Given the description of an element on the screen output the (x, y) to click on. 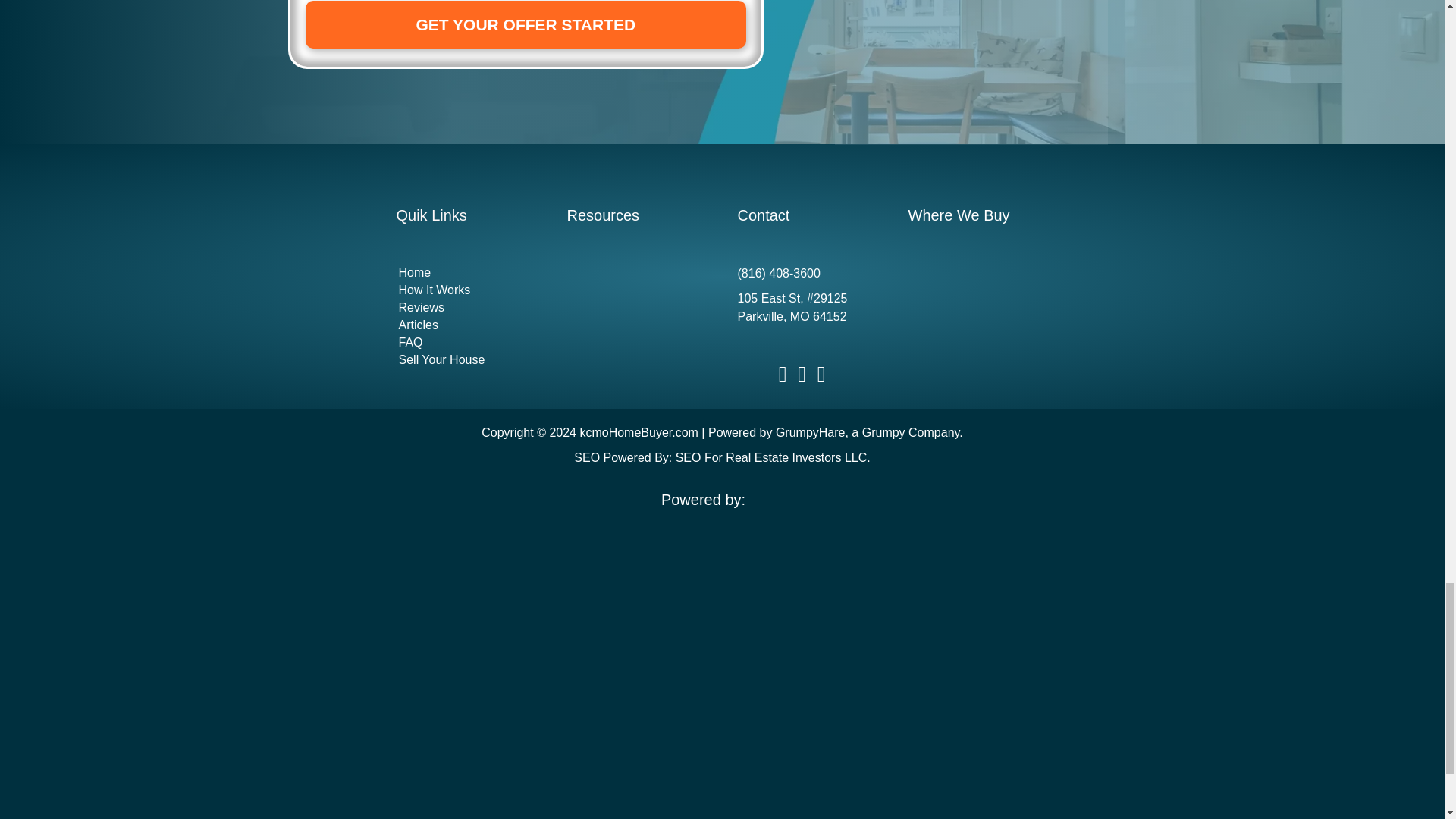
Get Your Offer Started (524, 24)
Reviews (465, 307)
FAQ (465, 342)
Sell Your House (465, 360)
Home (465, 272)
Articles (465, 324)
How It Works (465, 289)
Footer Get Offer (971, 72)
Get Your Offer Started (524, 24)
